Given the description of an element on the screen output the (x, y) to click on. 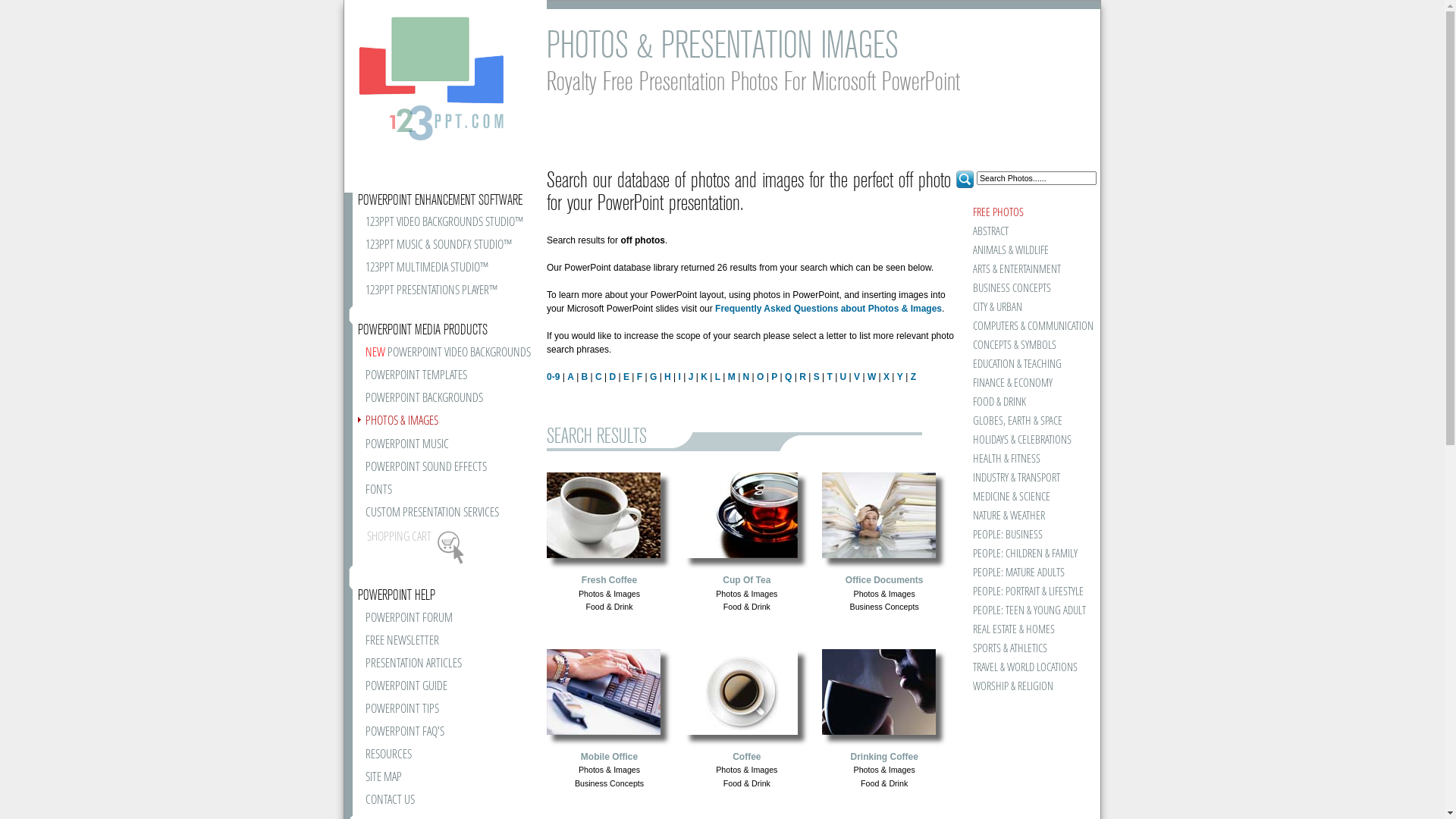
Food & Drink Element type: text (883, 781)
REAL ESTATE & HOMES Element type: text (1028, 630)
CUSTOM PRESENTATION SERVICES Element type: text (451, 516)
GLOBES, EARTH & SPACE Element type: text (1028, 421)
O Element type: text (759, 376)
T Element type: text (828, 376)
HEALTH & FITNESS Element type: text (1028, 459)
FREE NEWSLETTER Element type: text (451, 644)
POWERPOINT TIPS Element type: text (451, 713)
I Element type: text (679, 376)
R Element type: text (802, 376)
M Element type: text (731, 376)
K Element type: text (703, 376)
0-9 Element type: text (552, 376)
G Element type: text (652, 376)
Photos & Images Element type: text (609, 592)
POWERPOINT MUSIC Element type: text (451, 448)
SITE MAP Element type: text (451, 781)
U Element type: text (843, 376)
Photos & Images Element type: text (609, 768)
PEOPLE: MATURE ADULTS Element type: text (1028, 573)
Food & Drink Element type: text (746, 781)
POWERPOINT FORUM Element type: text (451, 622)
Photos & Images Element type: text (746, 592)
Q Element type: text (787, 376)
B Element type: text (584, 376)
CITY & URBAN Element type: text (1028, 308)
PEOPLE: CHILDREN & FAMILY Element type: text (1028, 554)
FINANCE & ECONOMY Element type: text (1028, 384)
P Element type: text (774, 376)
PEOPLE: BUSINESS Element type: text (1028, 535)
Frequently Asked Questions about Photos & Images Element type: text (828, 308)
ARTS & ENTERTAINMENT Element type: text (1028, 270)
V Element type: text (856, 376)
N Element type: text (746, 376)
Food & Drink Element type: text (746, 605)
POWERPOINT FAQ'S Element type: text (451, 735)
POWERPOINT BACKGROUNDS Element type: text (451, 402)
Food & Drink Element type: text (608, 605)
BUSINESS CONCEPTS Element type: text (1028, 289)
PEOPLE: TEEN & YOUNG ADULT Element type: text (1028, 611)
FREE PHOTOS Element type: text (1028, 213)
ANIMALS & WILDLIFE Element type: text (1028, 251)
MEDICINE & SCIENCE Element type: text (1028, 497)
C Element type: text (598, 376)
POWERPOINT SOUND EFFECTS Element type: text (451, 471)
RESOURCES Element type: text (451, 758)
PHOTOS & IMAGES Element type: text (451, 425)
NEW POWERPOINT VIDEO BACKGROUNDS Element type: text (451, 356)
J Element type: text (690, 376)
Photos & Images Element type: text (746, 768)
TRAVEL & WORLD LOCATIONS Element type: text (1028, 668)
WORSHIP & RELIGION Element type: text (1028, 687)
A Element type: text (570, 376)
COMPUTERS & COMMUNICATION Element type: text (1028, 327)
CONTACT US Element type: text (451, 804)
FONTS Element type: text (451, 494)
S Element type: text (816, 376)
NATURE & WEATHER Element type: text (1028, 516)
F Element type: text (639, 376)
Z Element type: text (913, 376)
ABSTRACT Element type: text (1028, 232)
Business Concepts Element type: text (608, 781)
SPORTS & ATHLETICS Element type: text (1028, 649)
W Element type: text (871, 376)
X Element type: text (886, 376)
PEOPLE: PORTRAIT & LIFESTYLE Element type: text (1028, 592)
Your Shopping Cart Is Empty Element type: hover (449, 547)
D Element type: text (612, 376)
L Element type: text (717, 376)
POWERPOINT GUIDE Element type: text (451, 690)
H Element type: text (667, 376)
Photos & Images Element type: text (884, 592)
Y Element type: text (900, 376)
Photos & Images Element type: text (884, 768)
E Element type: text (626, 376)
POWERPOINT TEMPLATES Element type: text (451, 379)
PRESENTATION ARTICLES Element type: text (451, 667)
FOOD & DRINK Element type: text (1028, 403)
CONCEPTS & SYMBOLS Element type: text (1028, 346)
EDUCATION & TEACHING Element type: text (1028, 365)
Business Concepts Element type: text (884, 605)
HOLIDAYS & CELEBRATIONS Element type: text (1028, 440)
INDUSTRY & TRANSPORT Element type: text (1028, 478)
